Given the description of an element on the screen output the (x, y) to click on. 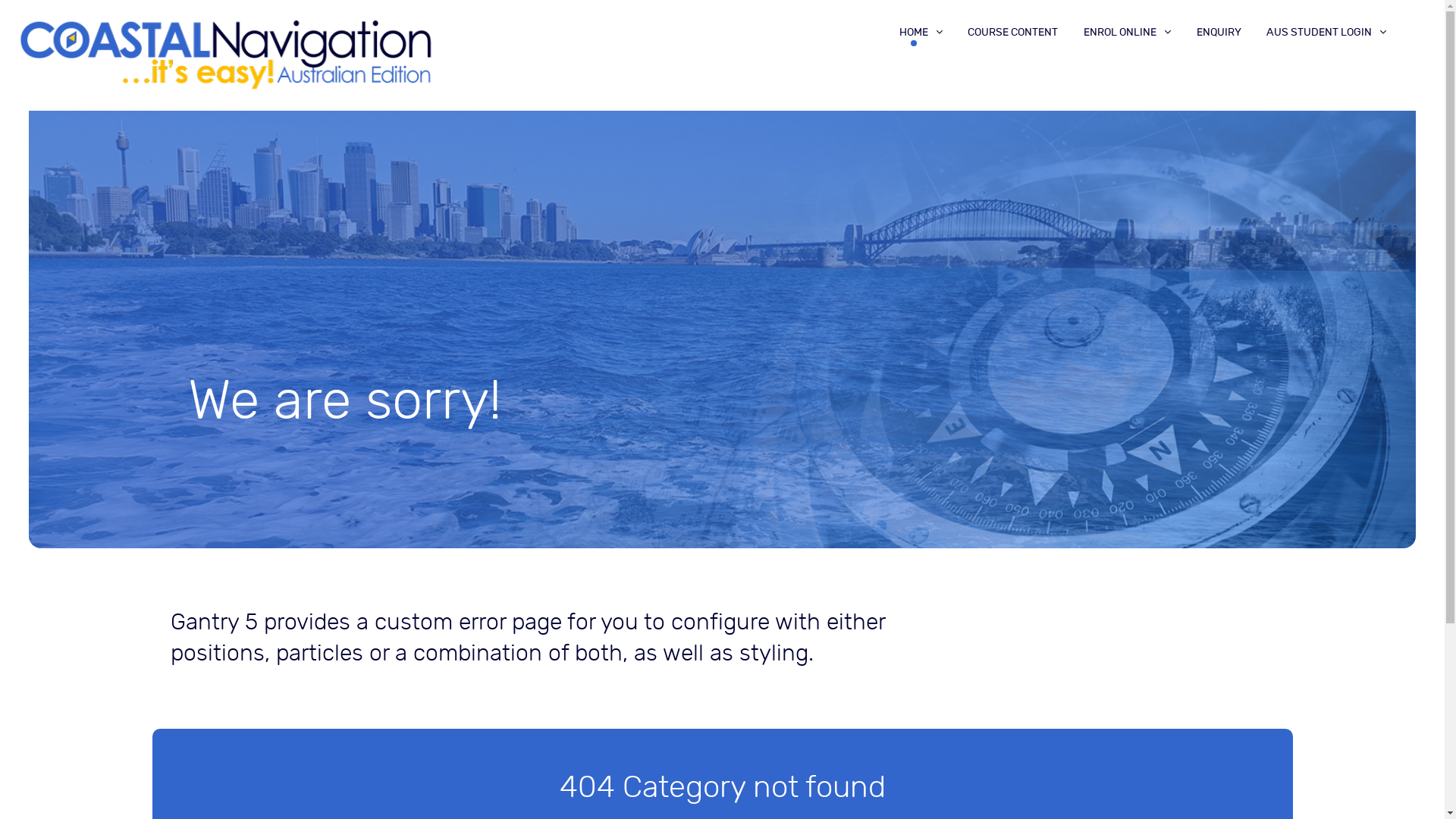
AUS STUDENT LOGIN Element type: text (1326, 32)
COURSE CONTENT Element type: text (1013, 32)
ENROL ONLINE Element type: text (1127, 32)
ENQUIRY Element type: text (1218, 32)
HOME Element type: text (920, 32)
Coastal Navigation Element type: hover (226, 53)
